Given the description of an element on the screen output the (x, y) to click on. 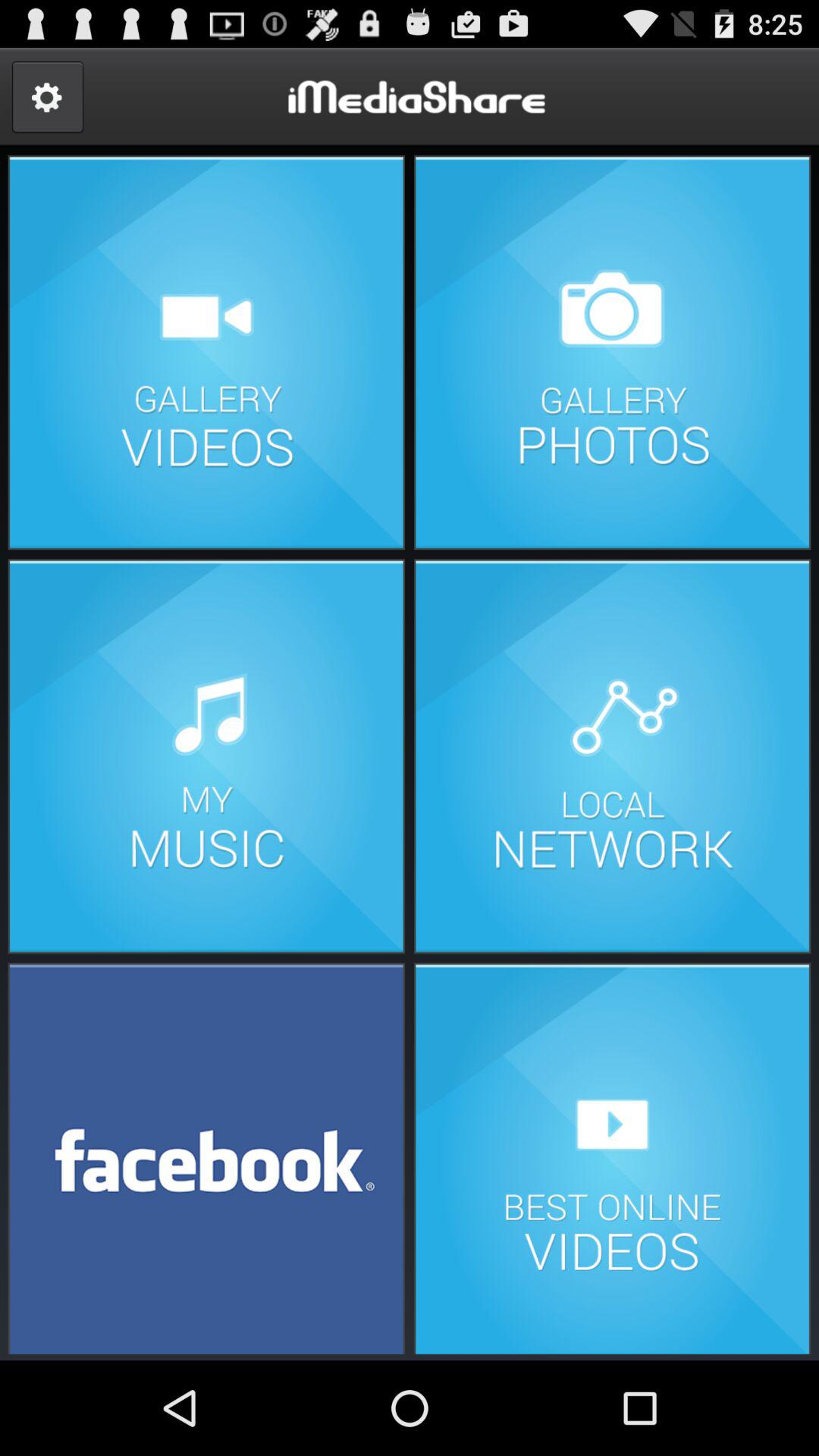
best online videos (612, 1157)
